Given the description of an element on the screen output the (x, y) to click on. 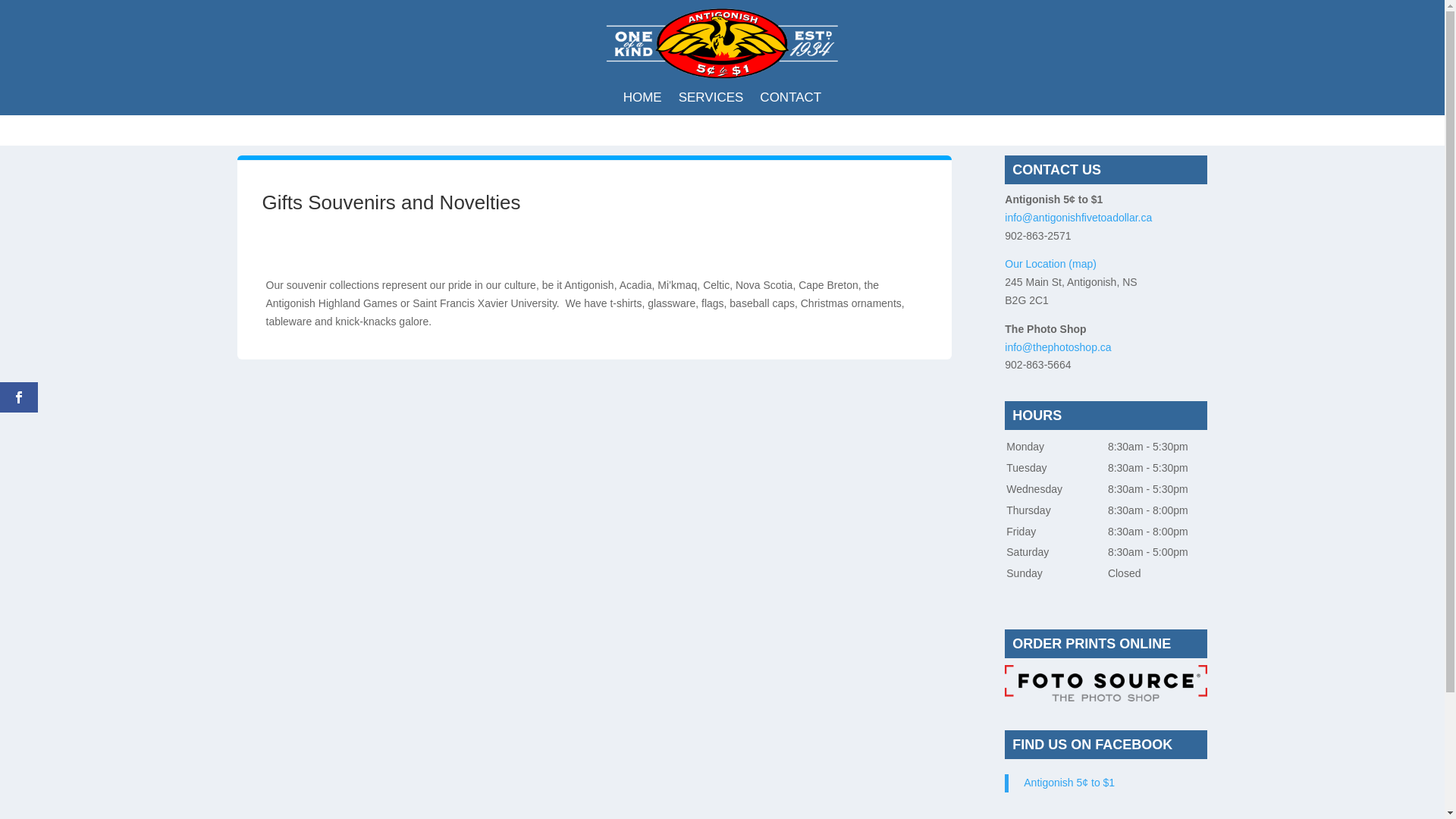
fotosource Element type: hover (1105, 684)
info@antigonishfivetoadollar.ca Element type: text (1077, 217)
info@thephotoshop.ca Element type: text (1057, 347)
Our Location (map) Element type: text (1050, 263)
HOME Element type: text (642, 100)
SERVICES Element type: text (710, 100)
CONTACT Element type: text (790, 100)
